Given the description of an element on the screen output the (x, y) to click on. 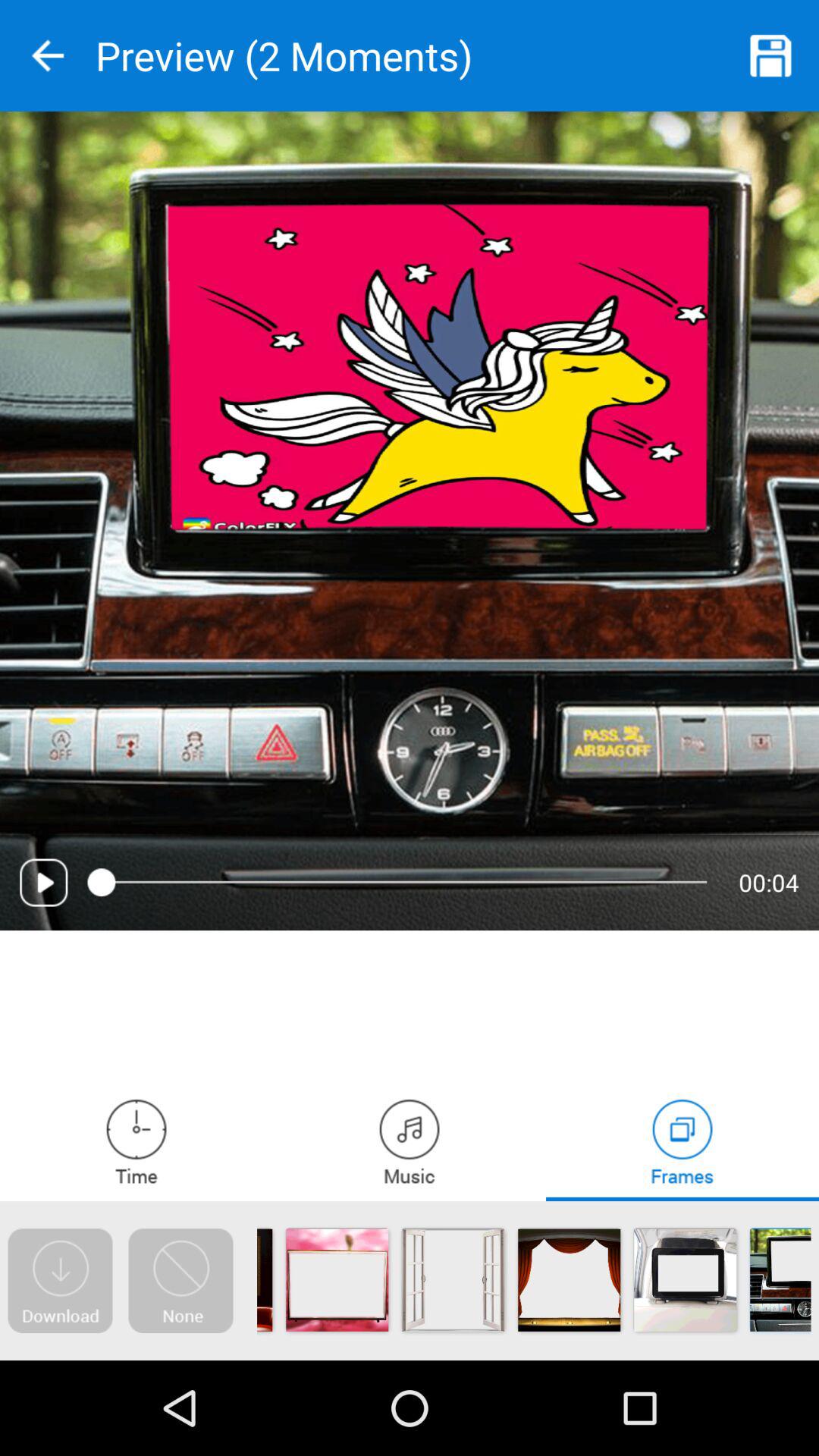
save (771, 55)
